Given the description of an element on the screen output the (x, y) to click on. 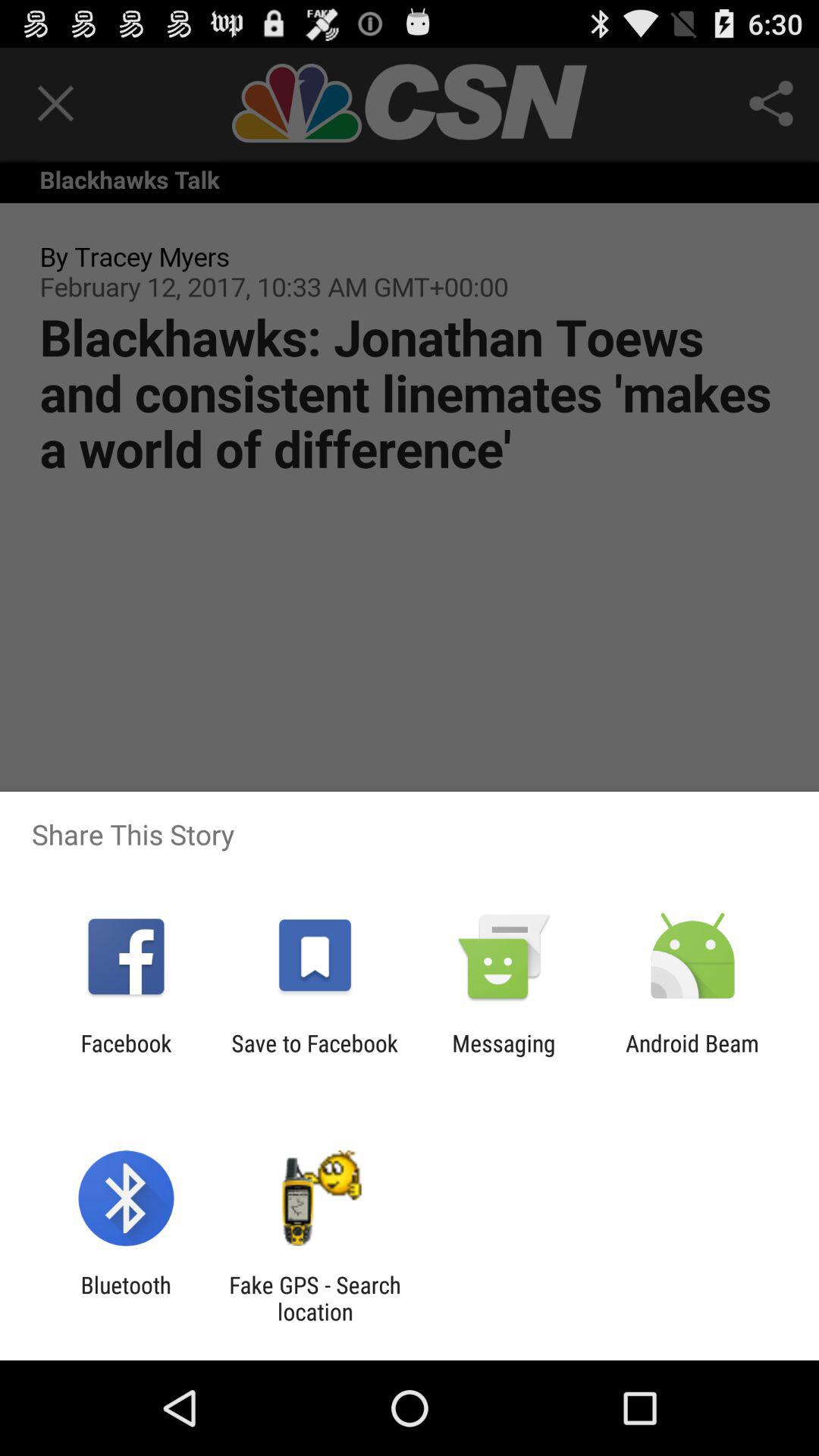
press the icon next to the messaging icon (314, 1056)
